Given the description of an element on the screen output the (x, y) to click on. 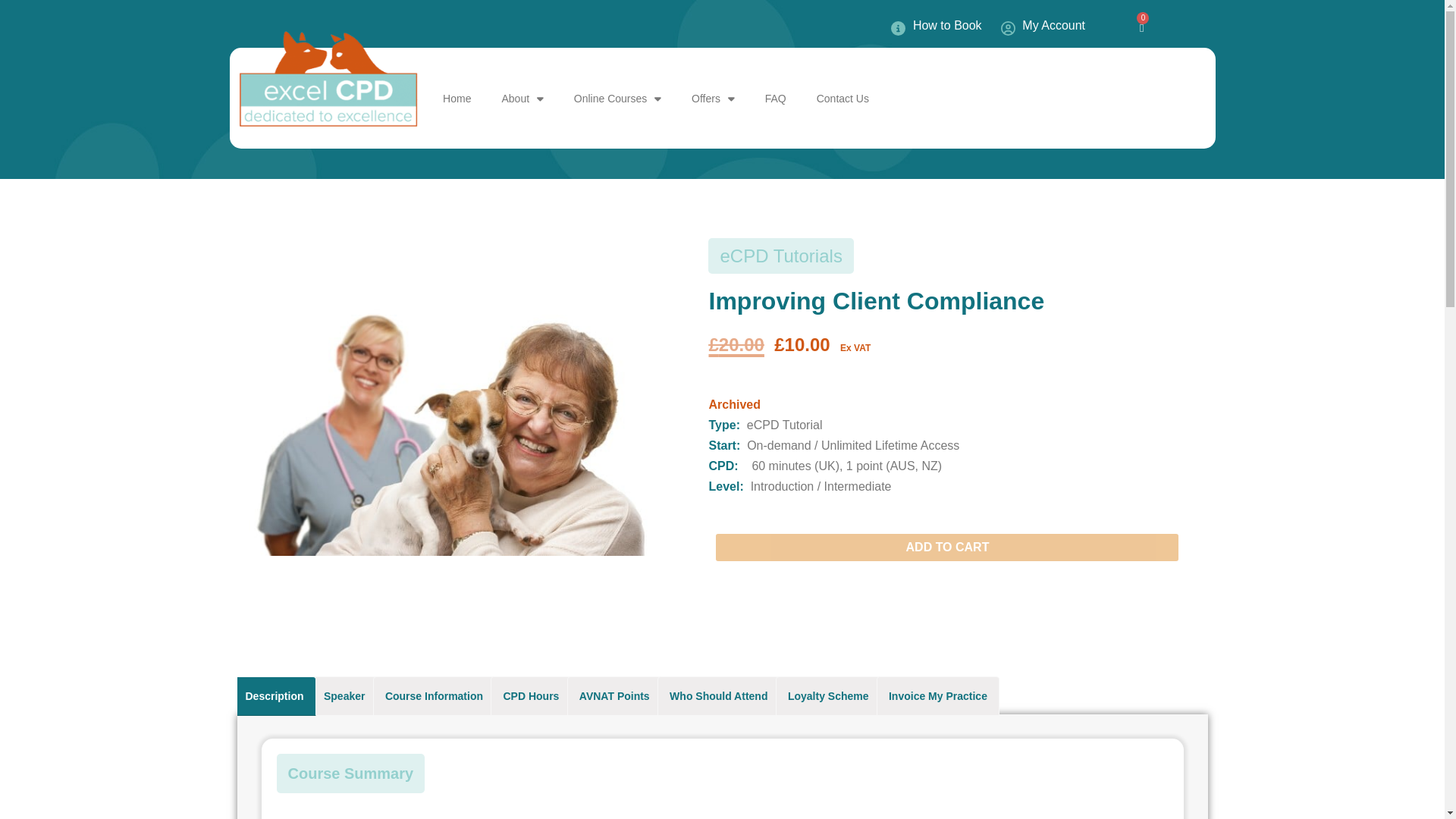
About (521, 98)
My Account (1042, 25)
FAQ (775, 98)
Home (457, 98)
Online Courses (618, 98)
Offers (713, 98)
Contact Us (842, 98)
How to Book (936, 25)
